Given the description of an element on the screen output the (x, y) to click on. 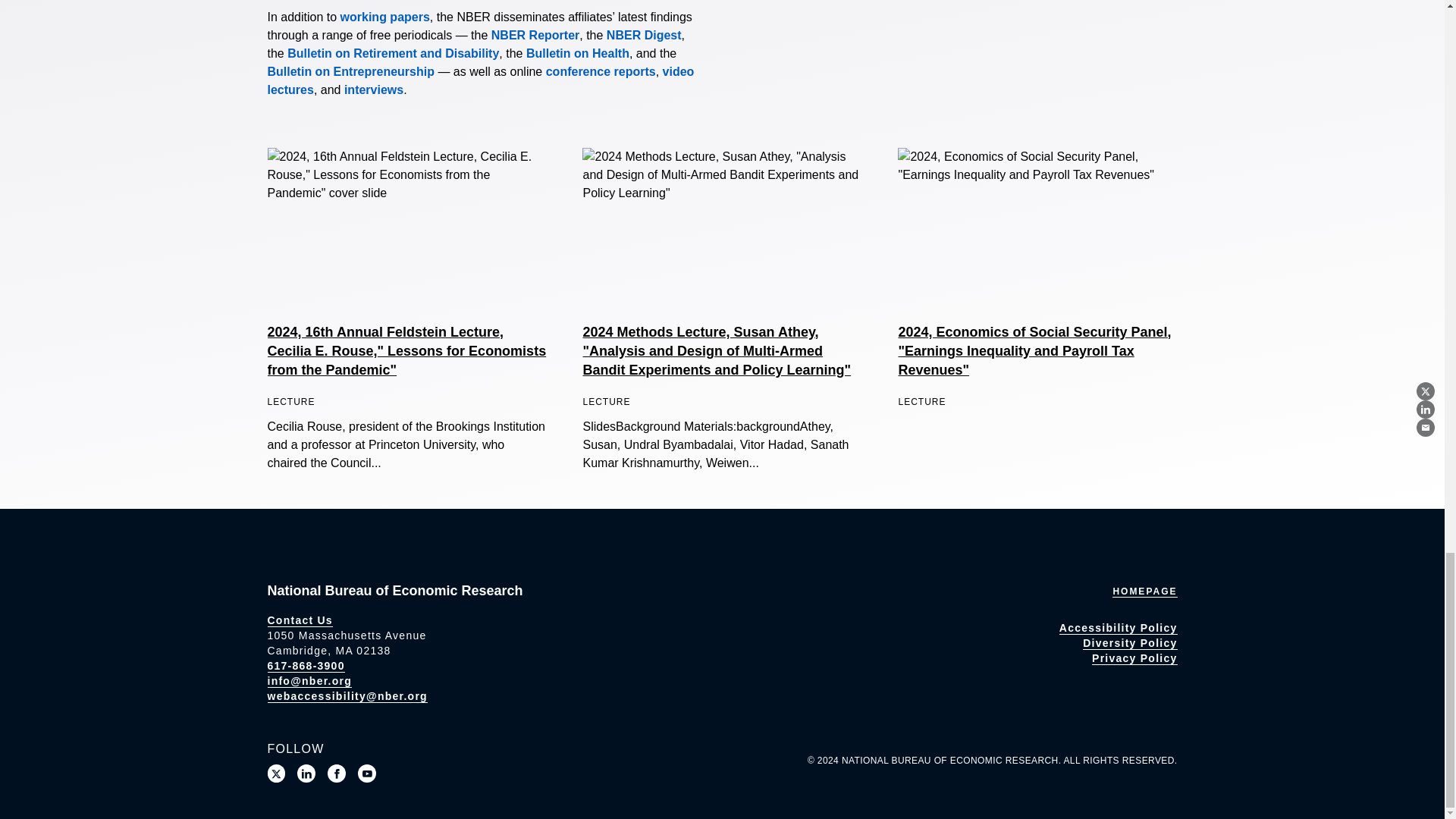
Working Papers (384, 16)
Research Spotlights (373, 89)
Lectures (480, 80)
Conferences (601, 71)
